Given the description of an element on the screen output the (x, y) to click on. 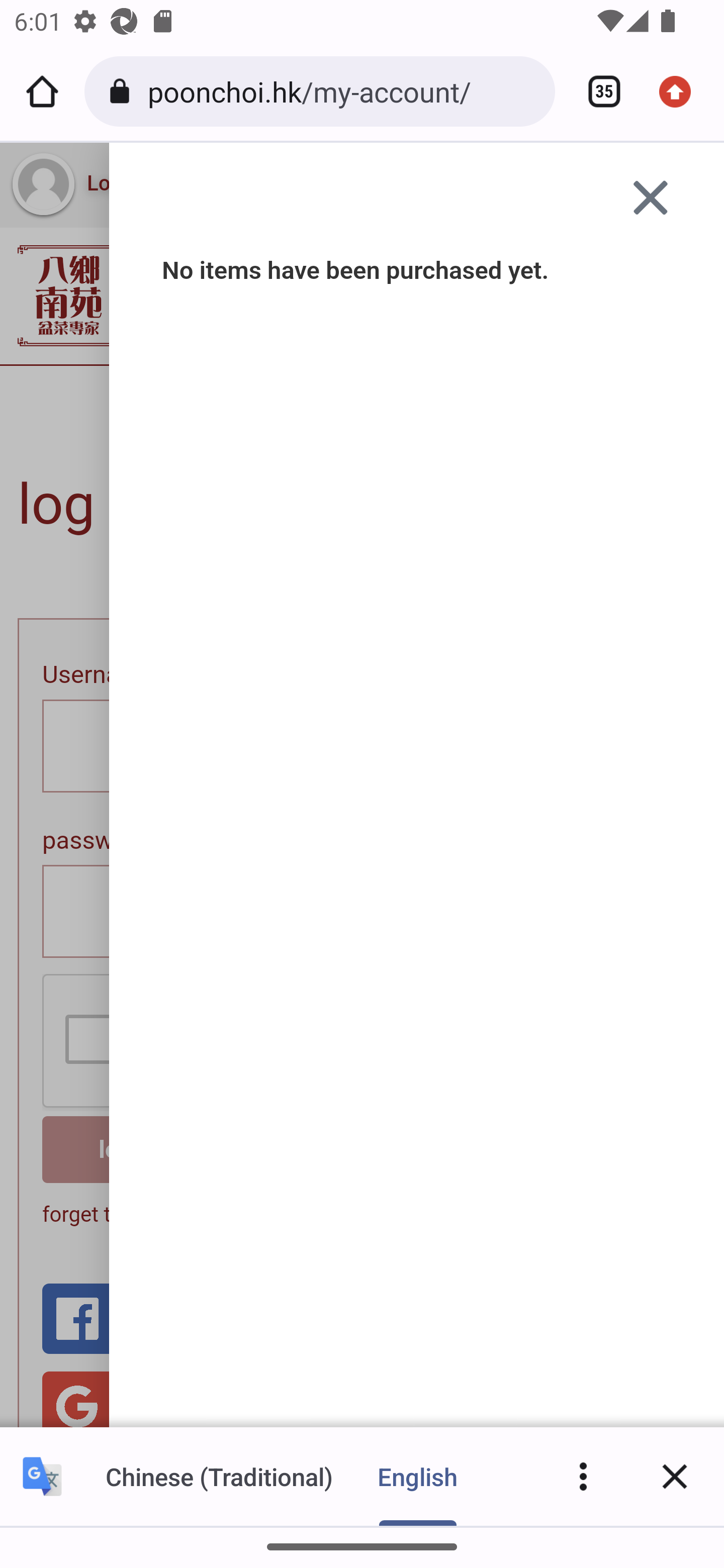
Home (42, 91)
Connection is secure (122, 91)
Switch or close tabs (597, 91)
Update available. More options (681, 91)
poonchoi.hk/my-account/ (343, 90)
Chinese (Traditional) (219, 1475)
More options (582, 1475)
Close (674, 1475)
